Given the description of an element on the screen output the (x, y) to click on. 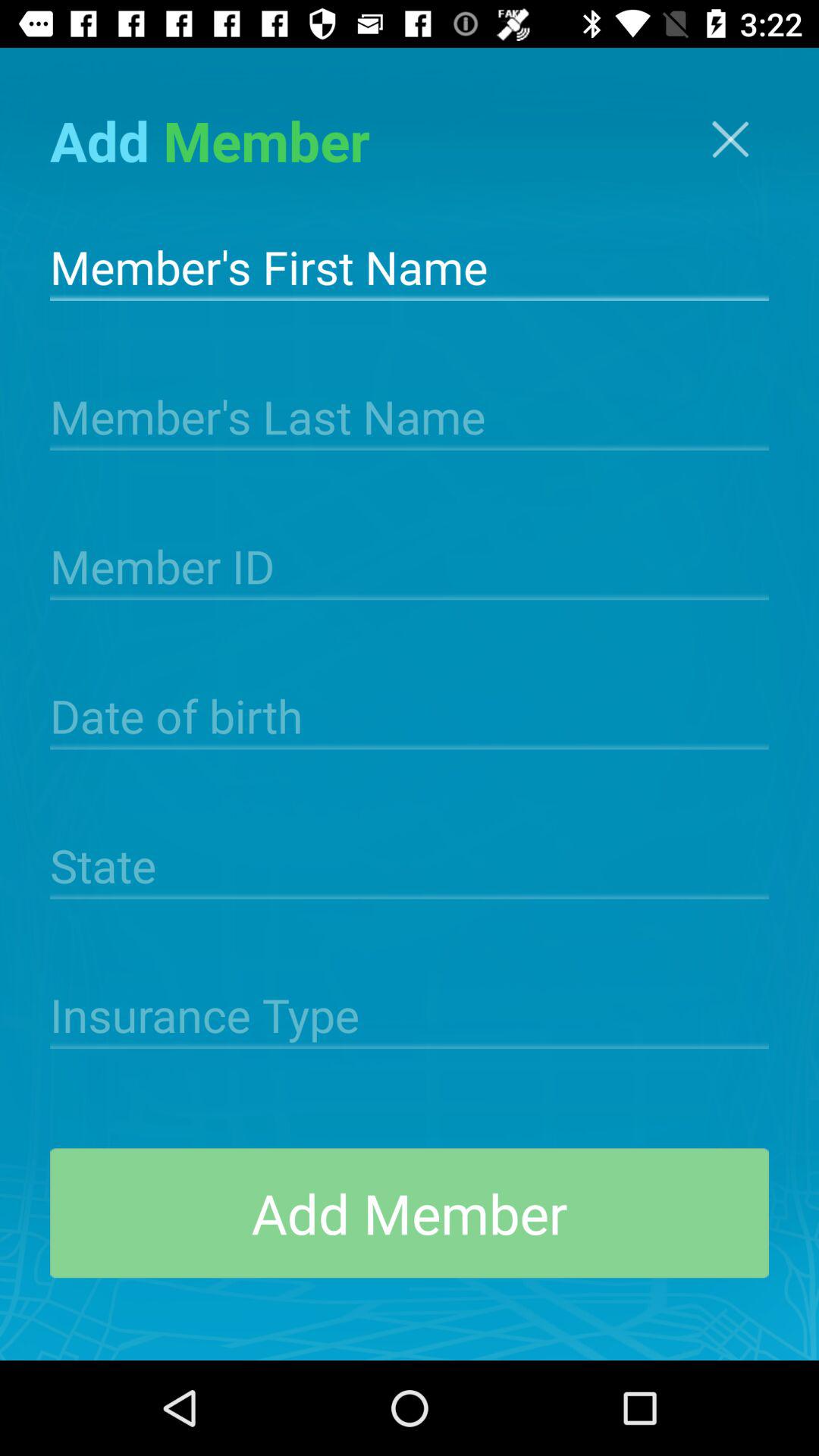
insurance type input field (409, 1013)
